Given the description of an element on the screen output the (x, y) to click on. 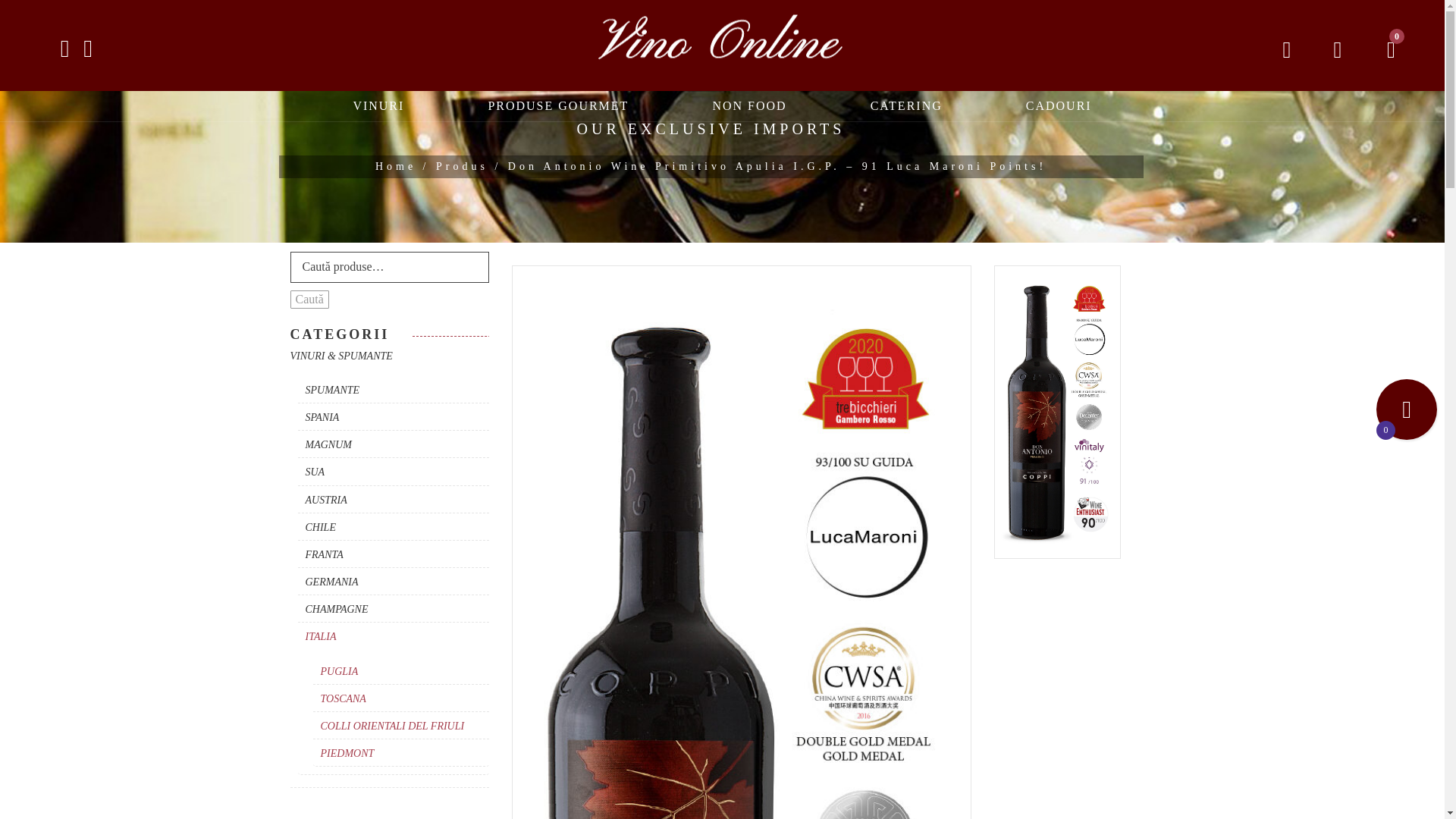
VINURI (378, 105)
0 (1386, 49)
